Given the description of an element on the screen output the (x, y) to click on. 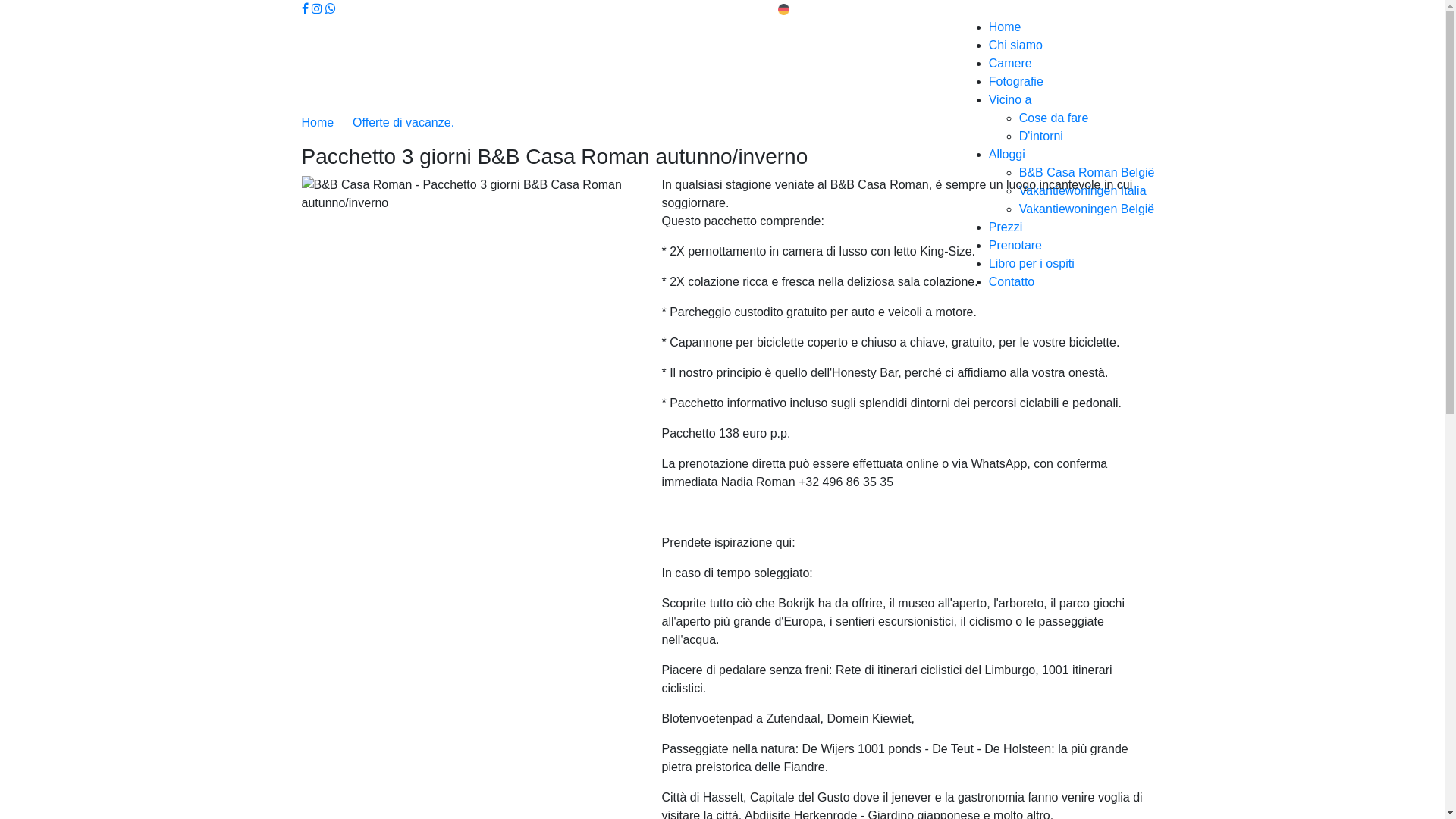
Chi siamo Element type: text (1015, 44)
Home Element type: text (1004, 26)
Alloggi Element type: text (1006, 153)
Vakantiewoningen Italia Element type: text (1082, 190)
D'intorni Element type: text (1041, 135)
Vicino a Element type: text (1010, 99)
Prenotare Element type: text (1014, 244)
Cose da fare Element type: text (1053, 117)
Libro per i ospiti Element type: text (1031, 263)
Offerte di vacanze. Element type: text (403, 122)
Prezzi Element type: text (1005, 226)
Home Element type: text (319, 122)
Camere Element type: text (1010, 62)
Contatto Element type: text (1011, 281)
Fotografie Element type: text (1015, 81)
